Given the description of an element on the screen output the (x, y) to click on. 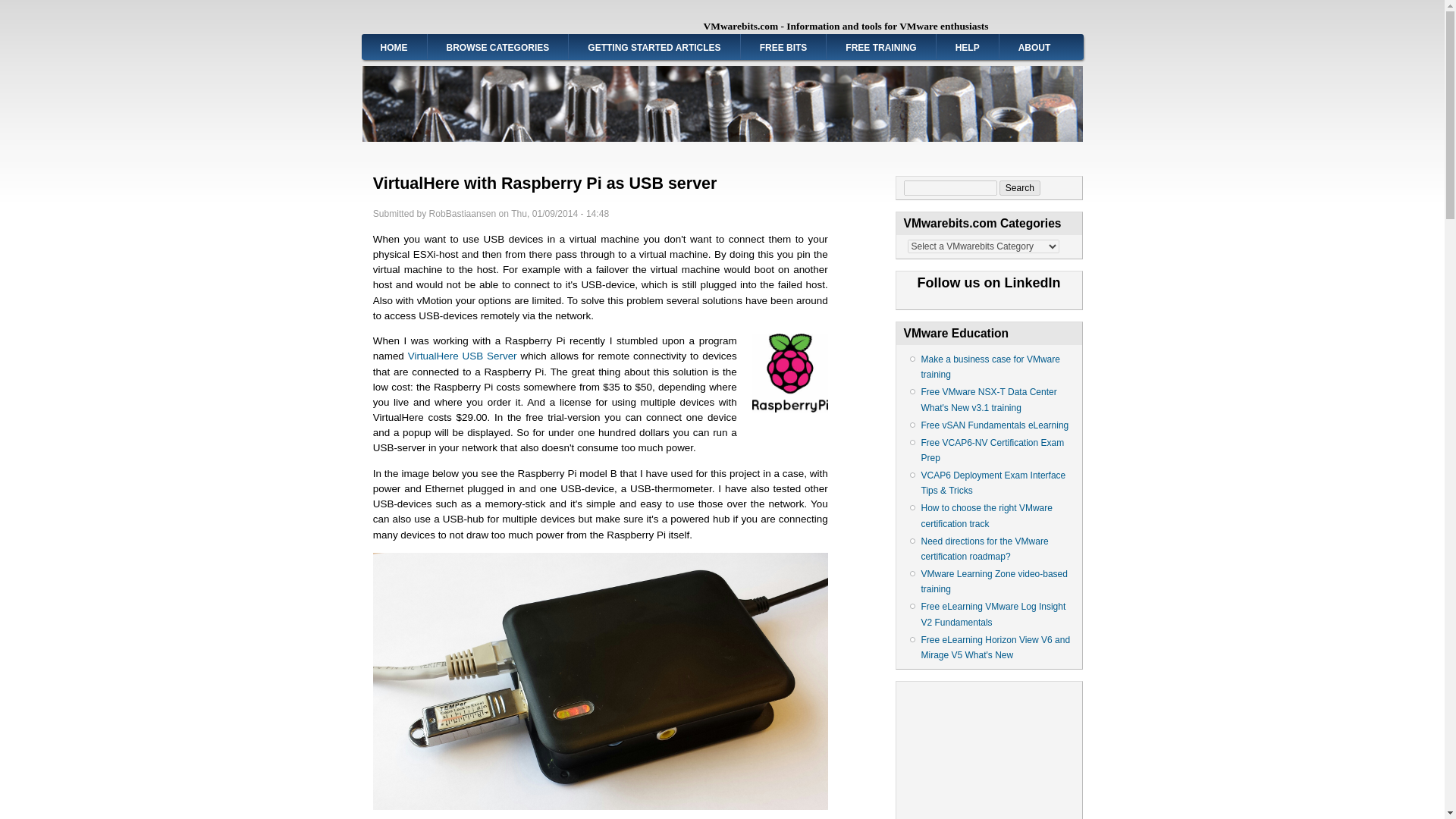
HOME (393, 46)
Free VMware bits and pieces (784, 46)
Free VMware NSX-T Data Center What's New v3.1 training (988, 399)
Make a business case for VMware training (989, 366)
ABOUT (1034, 46)
Need directions for the VMware certification roadmap? (984, 548)
About VMwarebits.com (1034, 46)
GETTING STARTED ARTICLES (654, 46)
Enter the terms you wish to search for. (950, 187)
How this website works (967, 46)
How to choose the right VMware certification track (985, 515)
Search (1019, 187)
FREE BITS (784, 46)
VMware Learning Zone video-based training (993, 581)
FREE TRAINING (880, 46)
